Given the description of an element on the screen output the (x, y) to click on. 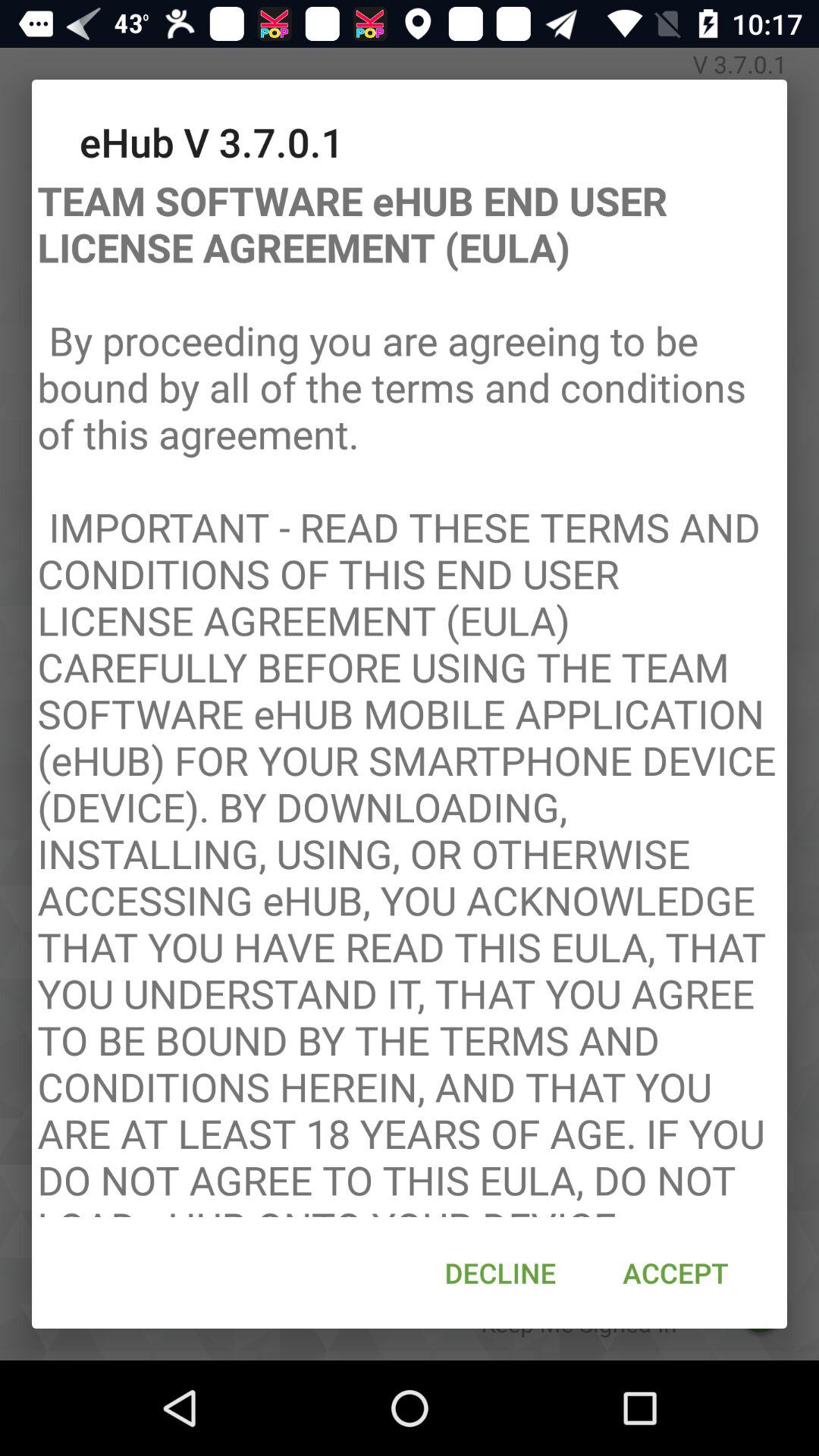
turn on the icon next to decline item (675, 1272)
